Given the description of an element on the screen output the (x, y) to click on. 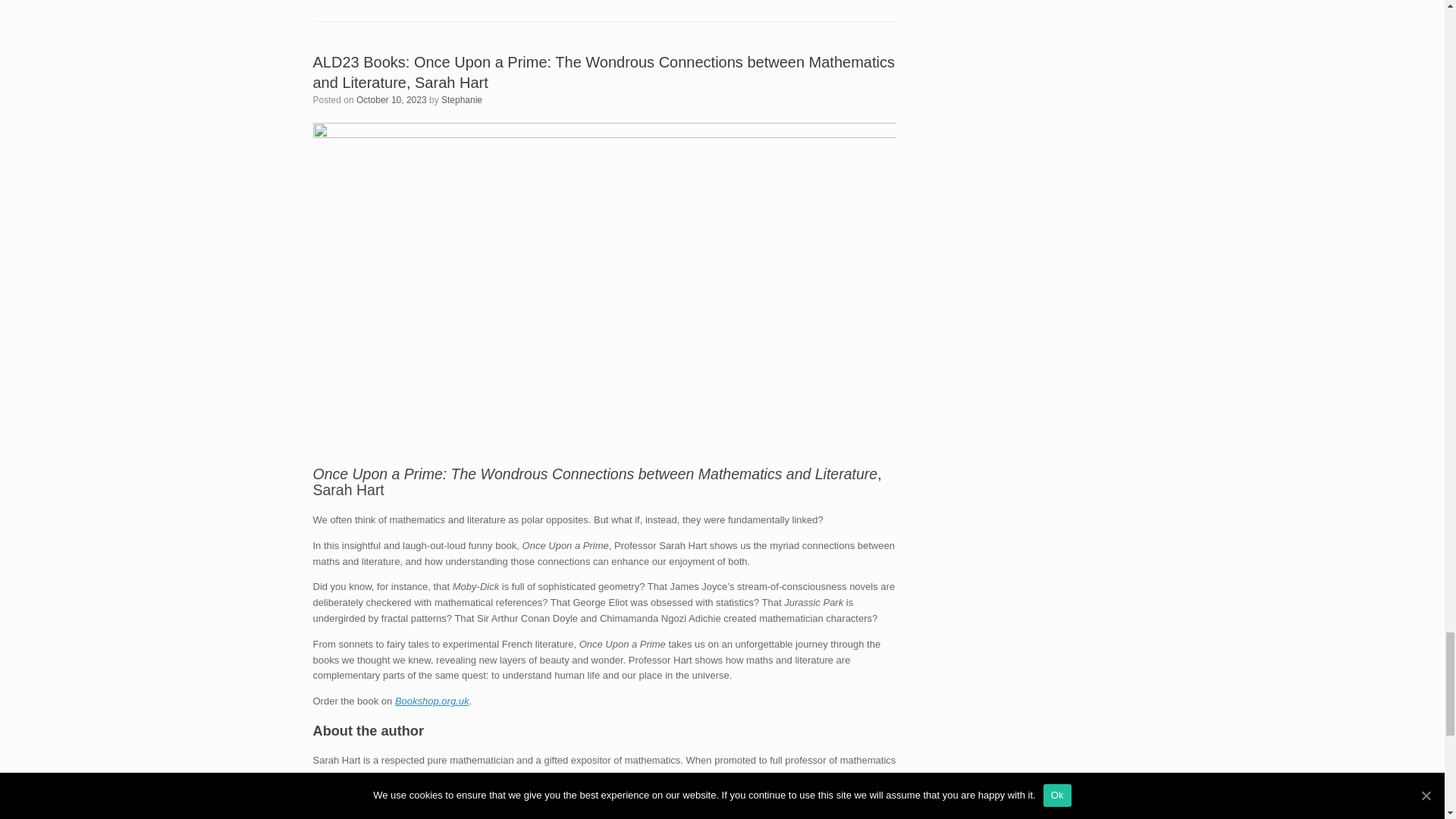
5:30 pm (391, 100)
